Given the description of an element on the screen output the (x, y) to click on. 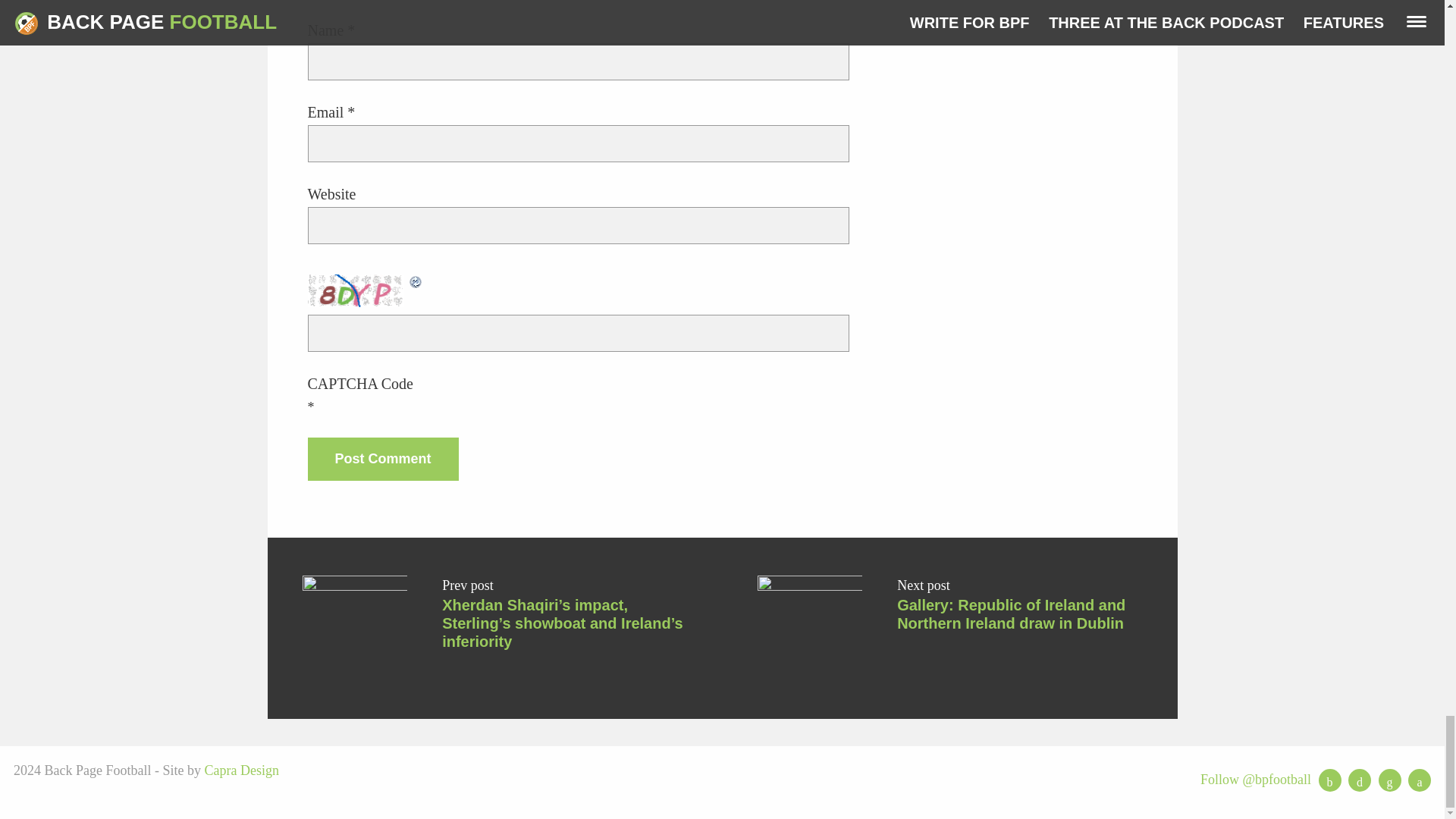
Post Comment (382, 458)
CAPTCHA (357, 290)
